Given the description of an element on the screen output the (x, y) to click on. 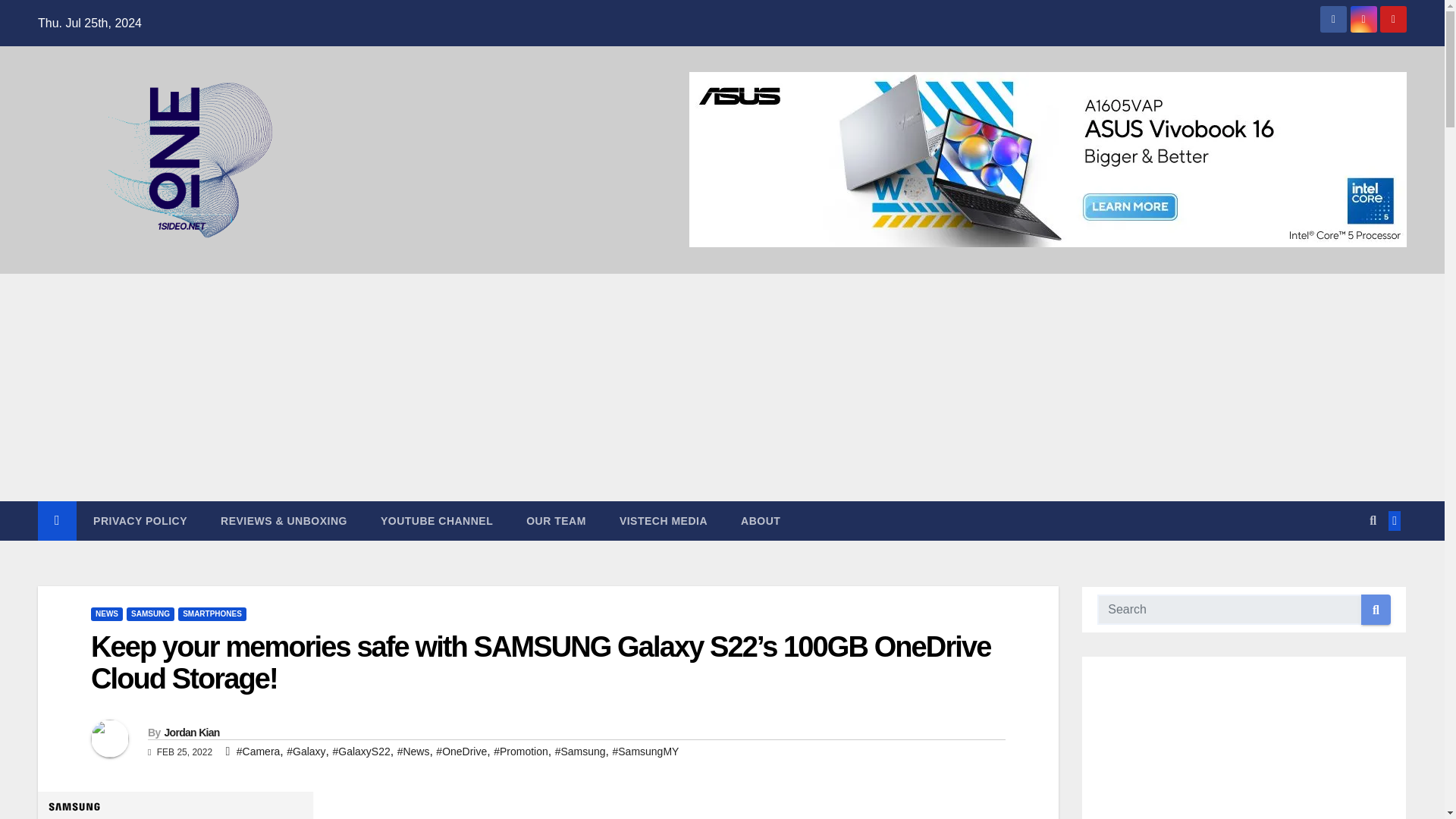
VISTECH MEDIA (662, 520)
YOUTUBE CHANNEL (436, 520)
YouTube Channel (436, 520)
About (759, 520)
PRIVACY POLICY (140, 520)
Vistech Media (662, 520)
Jordan Kian (191, 732)
NEWS (106, 613)
SMARTPHONES (211, 613)
OUR TEAM (555, 520)
Our Team (555, 520)
ABOUT (759, 520)
Privacy Policy (140, 520)
SAMSUNG (150, 613)
